Given the description of an element on the screen output the (x, y) to click on. 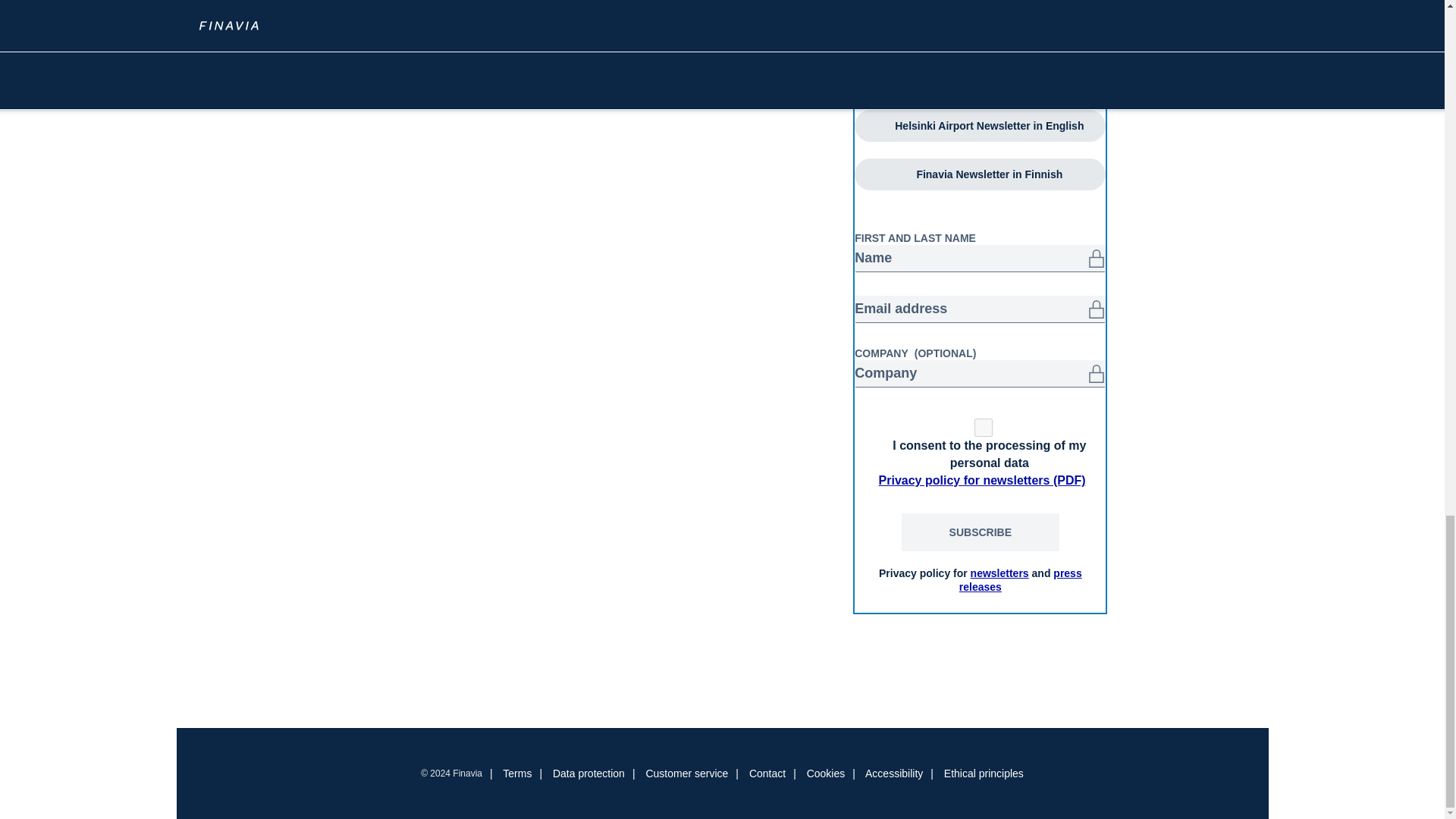
1 (983, 427)
